Given the description of an element on the screen output the (x, y) to click on. 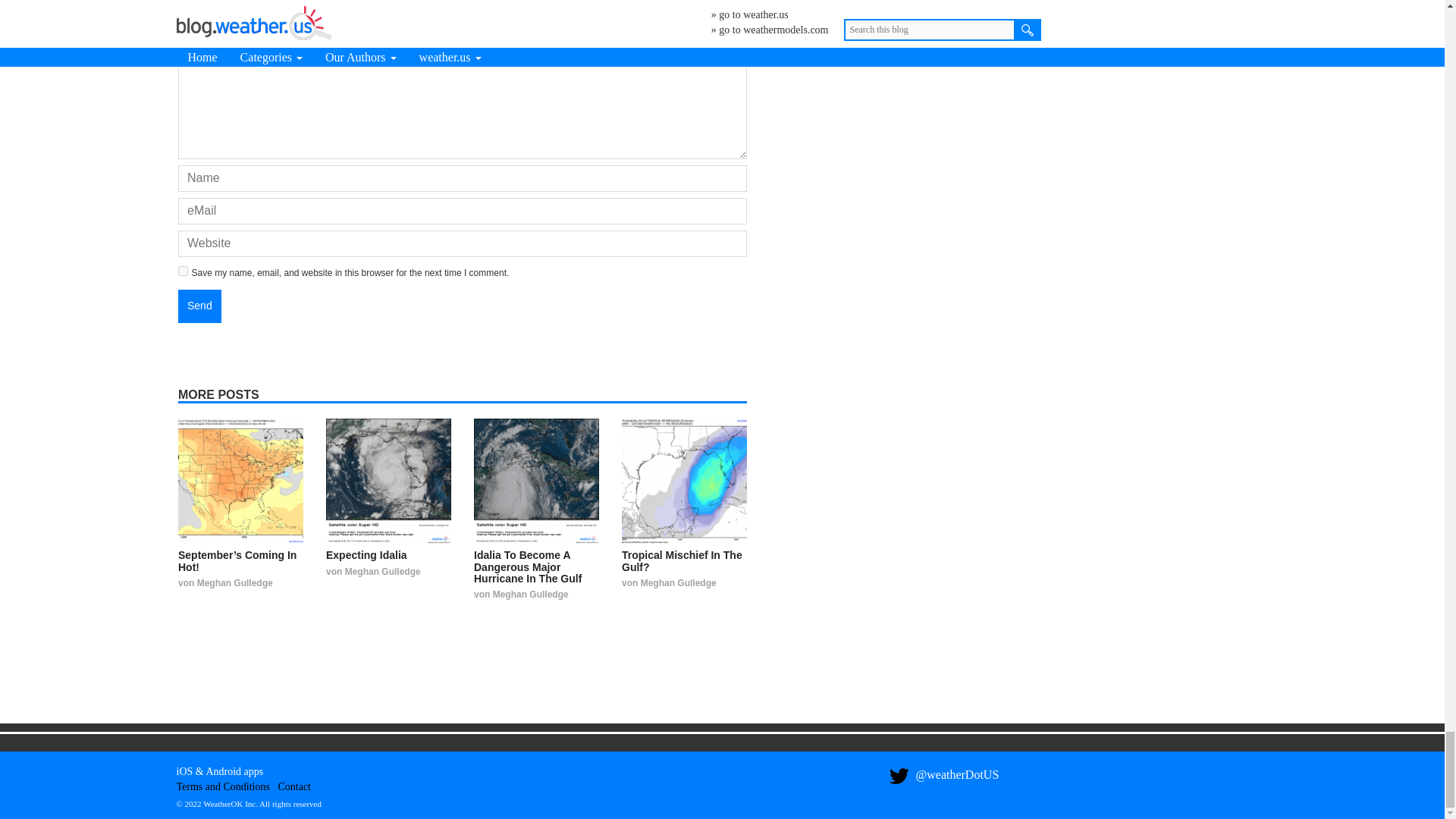
Tropical Mischief In The Gulf? (683, 480)
Expecting Idalia (388, 480)
Tropical Mischief In The Gulf? (681, 560)
Send (199, 305)
Idalia To Become A Dangerous Major Hurricane In The Gulf (536, 480)
yes (182, 271)
Idalia To Become A Dangerous Major Hurricane In The Gulf (527, 566)
Expecting Idalia (366, 554)
